Given the description of an element on the screen output the (x, y) to click on. 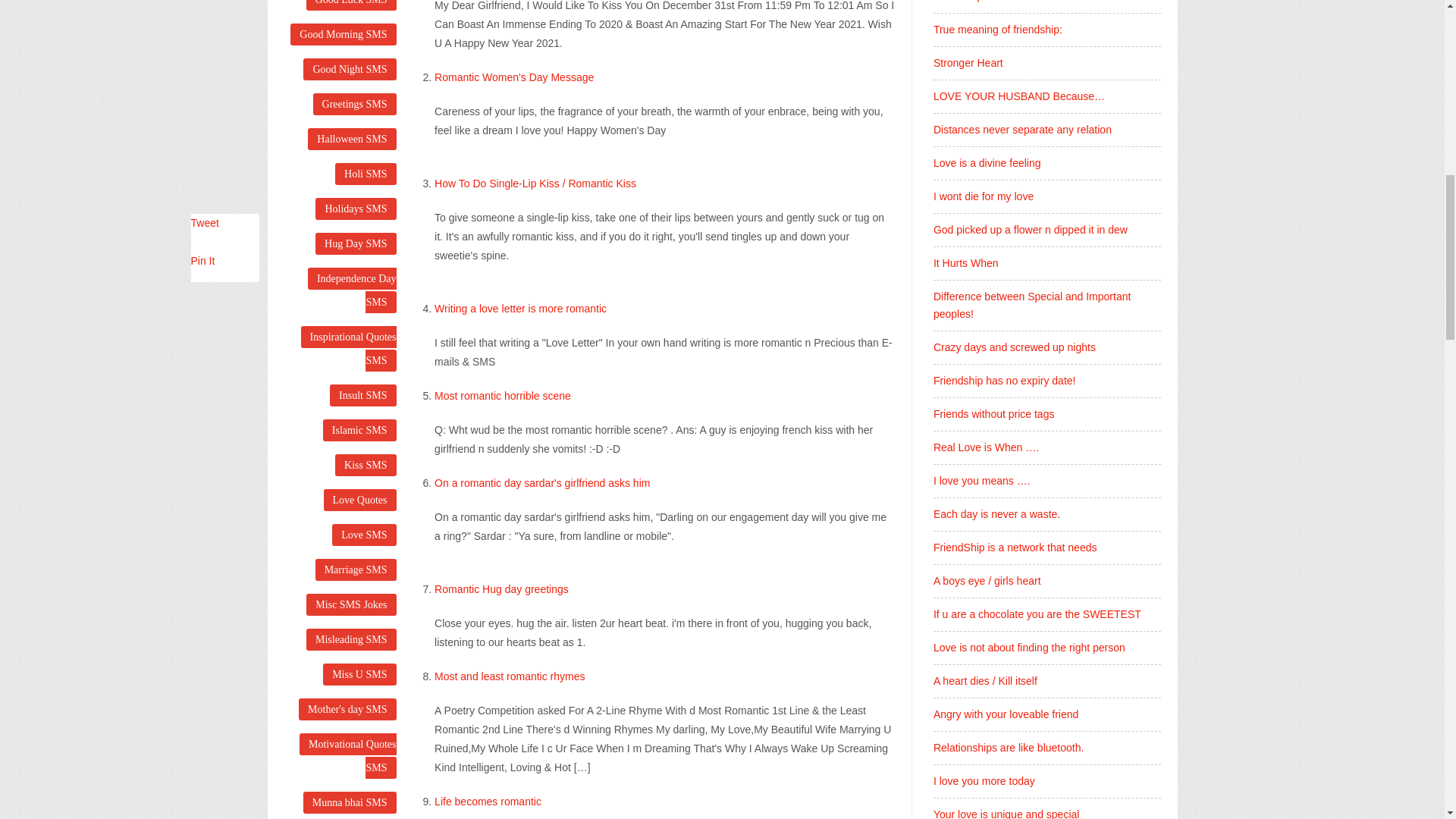
Misleading SMS (350, 639)
Love Quotes (359, 499)
Love SMS (363, 535)
Kiss SMS (365, 464)
Marriage SMS (355, 569)
Inspirational Quotes SMS (348, 348)
Insult SMS (363, 395)
Good Morning SMS (342, 34)
Halloween SMS (351, 138)
Misc SMS Jokes (350, 604)
